Given the description of an element on the screen output the (x, y) to click on. 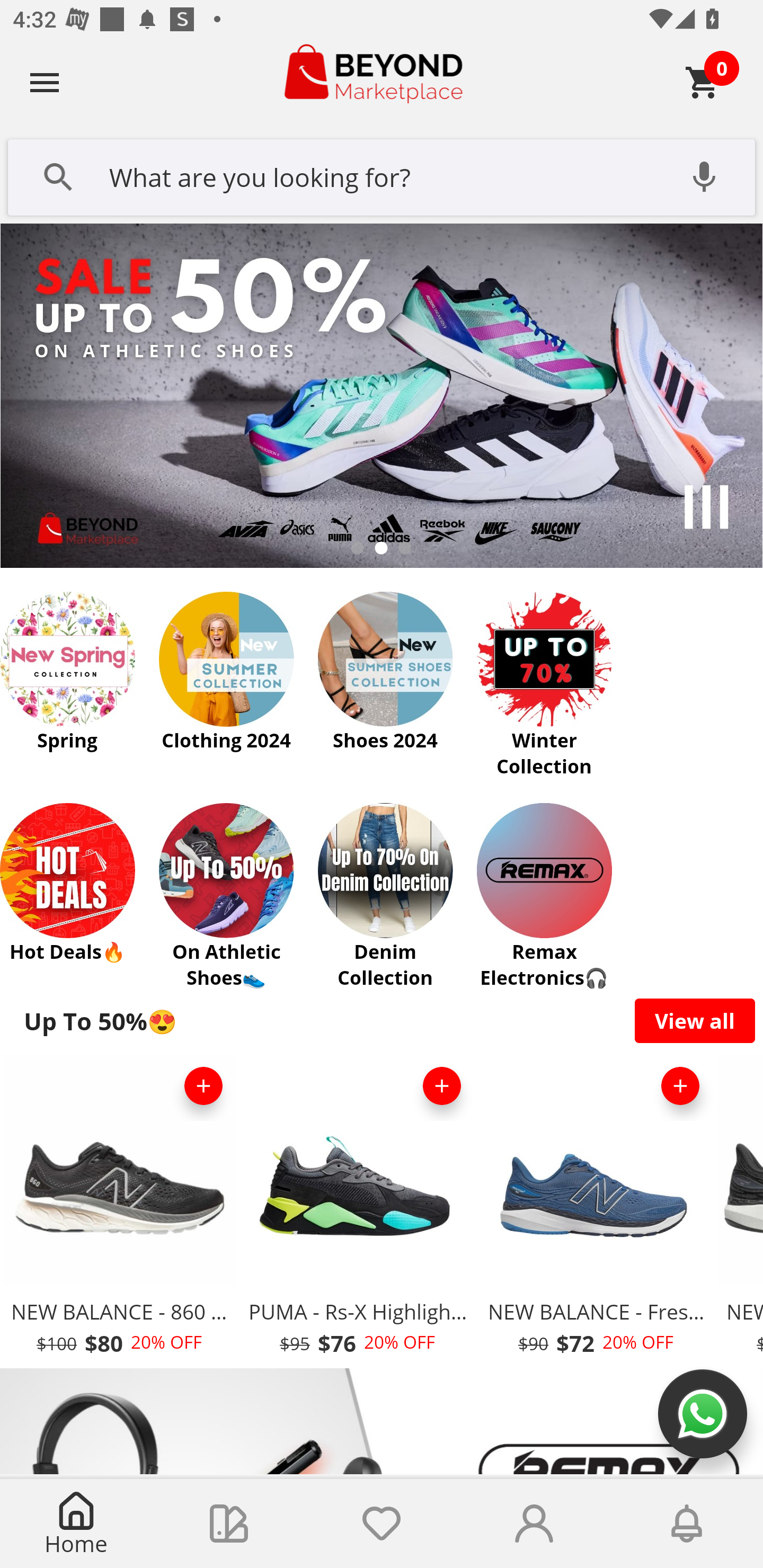
Navigate up (44, 82)
What are you looking for? (381, 175)
View all (694, 1020)
NEW BALANCE - 860 Running Shoes $100 $80 20% OFF (119, 1209)
Collections (228, 1523)
Wishlist (381, 1523)
Account (533, 1523)
Notifications (686, 1523)
